Given the description of an element on the screen output the (x, y) to click on. 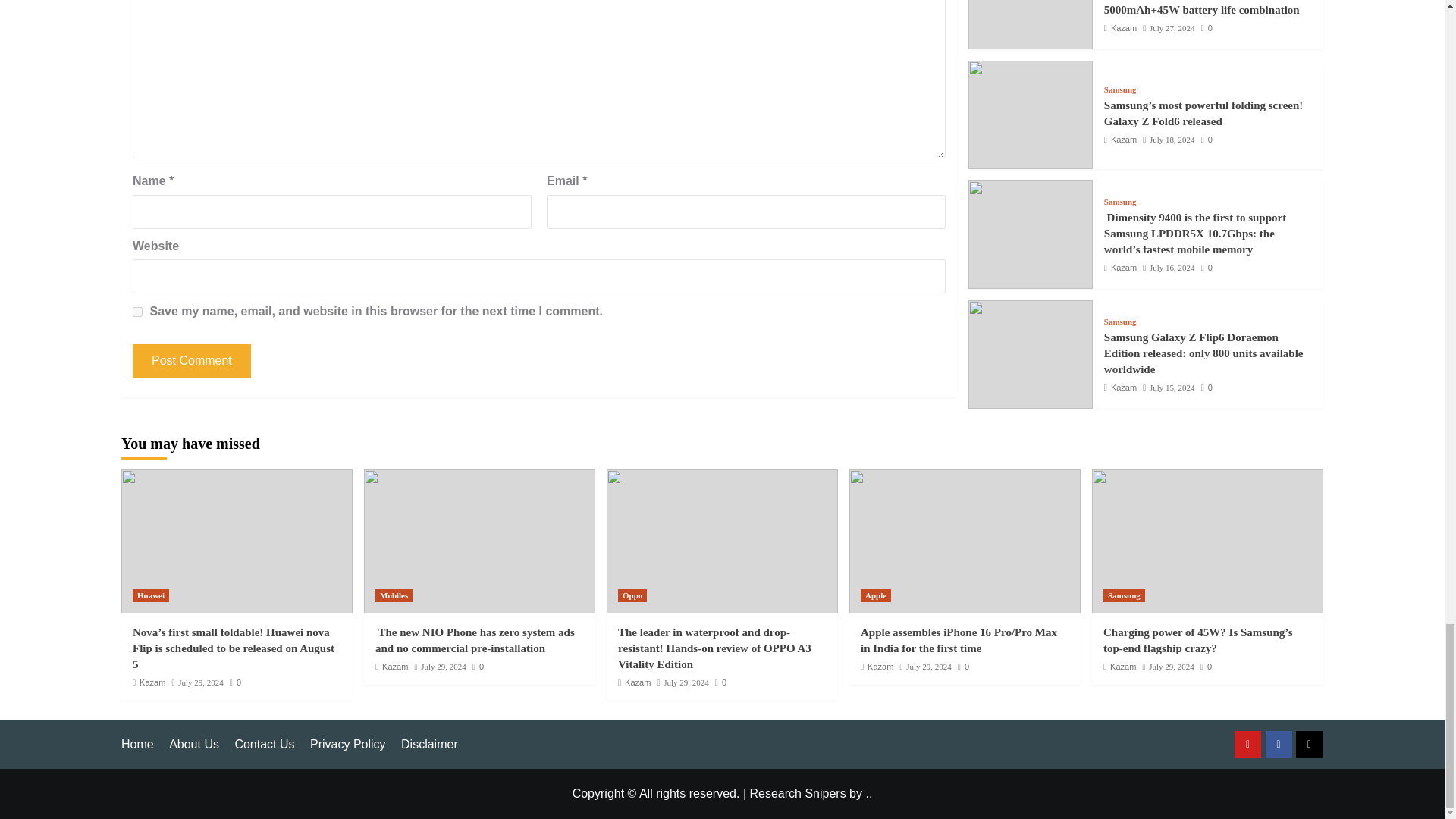
Post Comment (191, 360)
yes (137, 311)
